Given the description of an element on the screen output the (x, y) to click on. 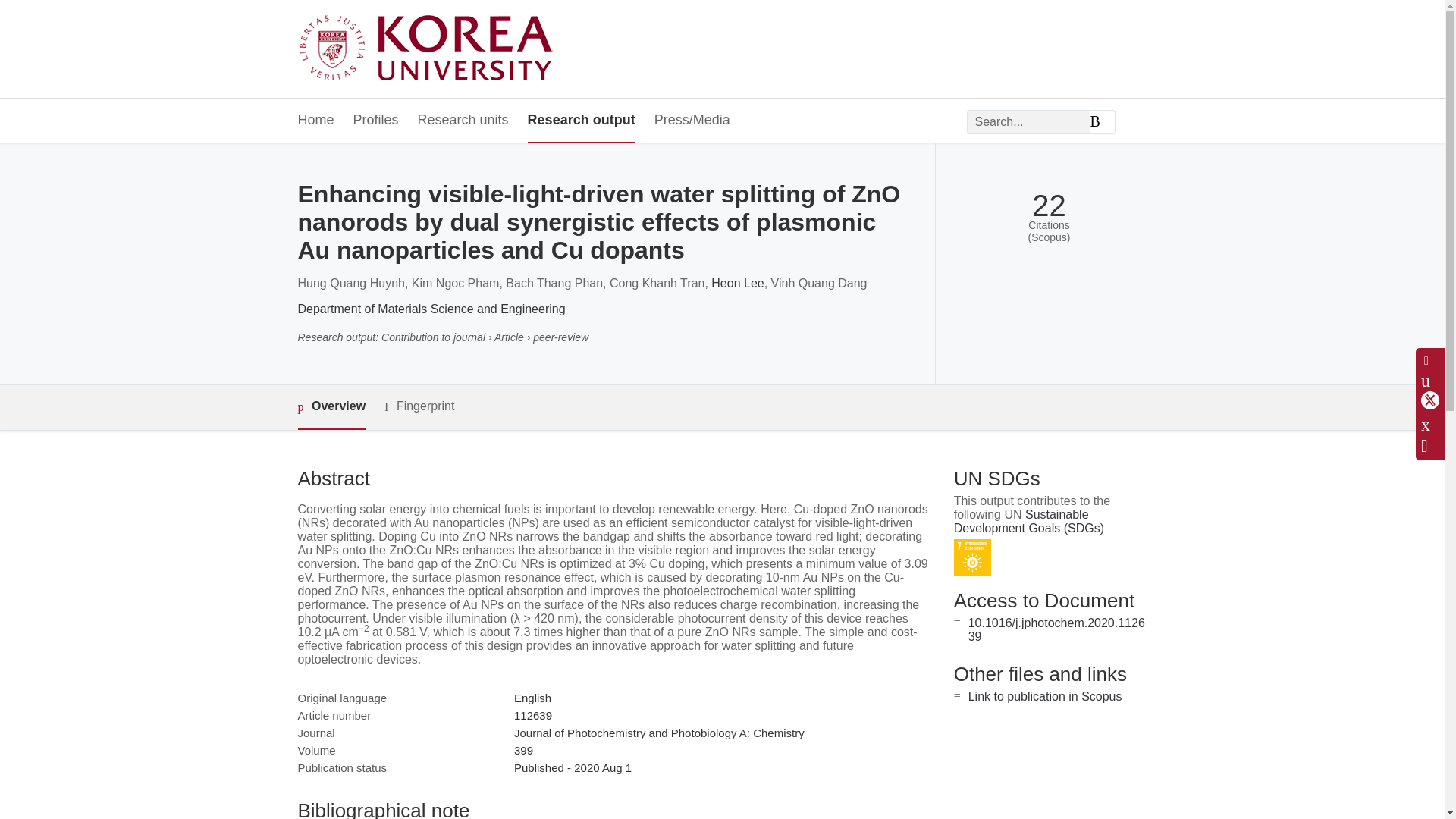
Overview (331, 406)
22 (1048, 205)
SDG 7 - Affordable and Clean Energy (972, 557)
Heon Lee (736, 282)
Research units (462, 120)
Fingerprint (419, 406)
Korea University Home (429, 49)
Profiles (375, 120)
Research output (580, 120)
Journal of Photochemistry and Photobiology A: Chemistry (659, 732)
Link to publication in Scopus (1045, 696)
Department of Materials Science and Engineering (430, 308)
